Given the description of an element on the screen output the (x, y) to click on. 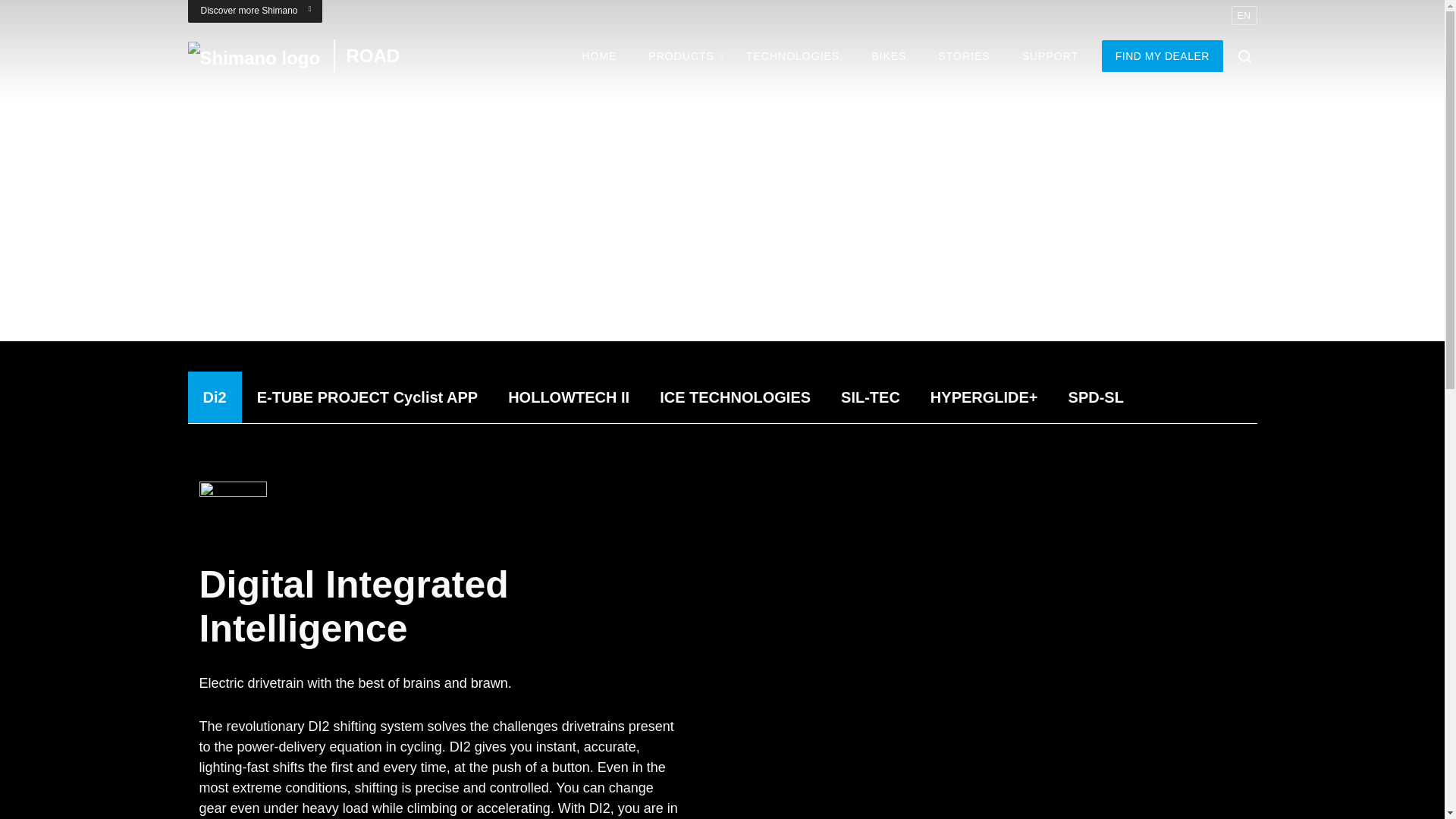
TECHNOLOGIES (792, 55)
BIKES (887, 55)
PRODUCTS (680, 55)
SUPPORT (1050, 55)
HOME (837, 55)
FIND MY DEALER (597, 55)
STORIES (1162, 56)
ROAD (963, 55)
